Given the description of an element on the screen output the (x, y) to click on. 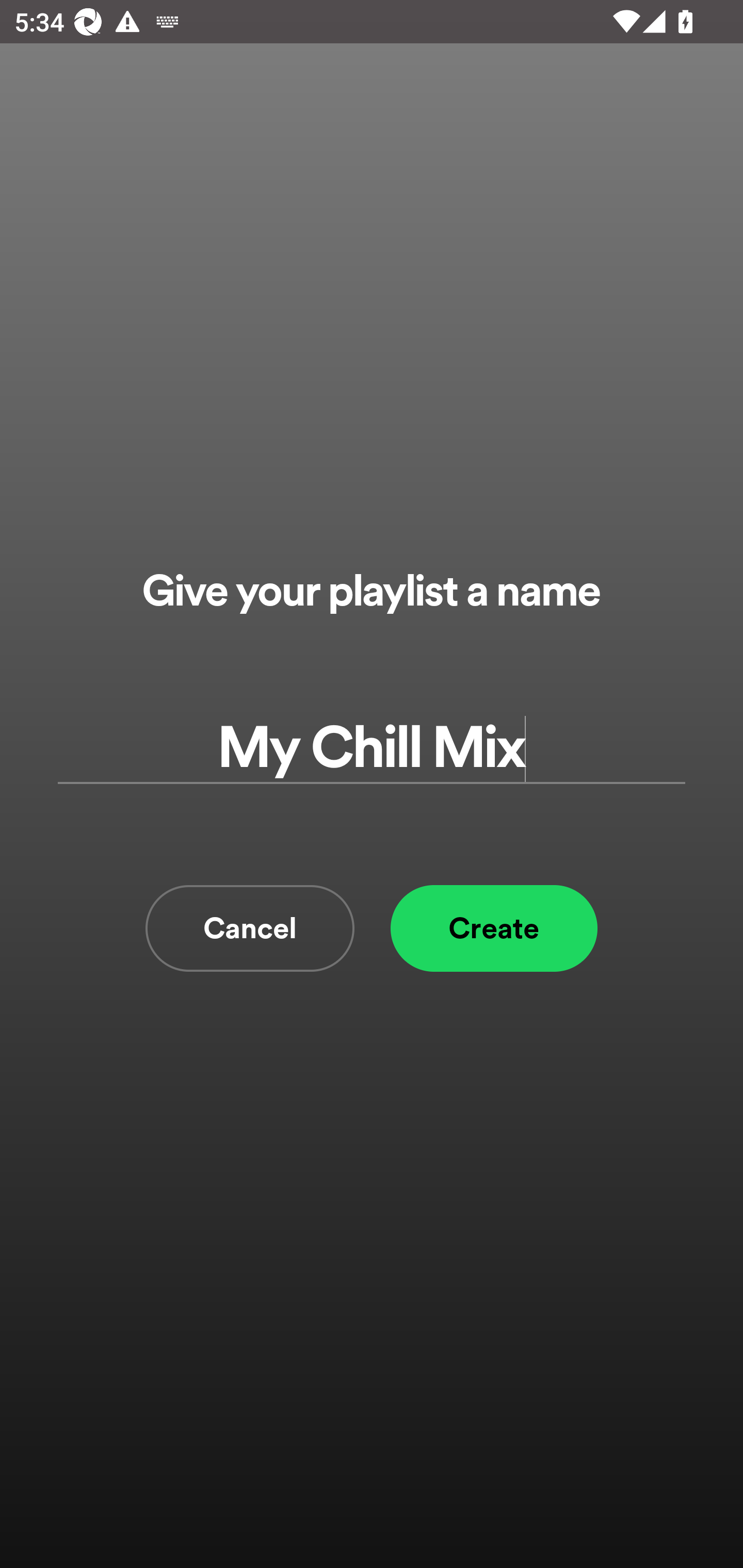
My Chill Mix Add a playlist name (371, 749)
Cancel (249, 928)
Create (493, 928)
